Given the description of an element on the screen output the (x, y) to click on. 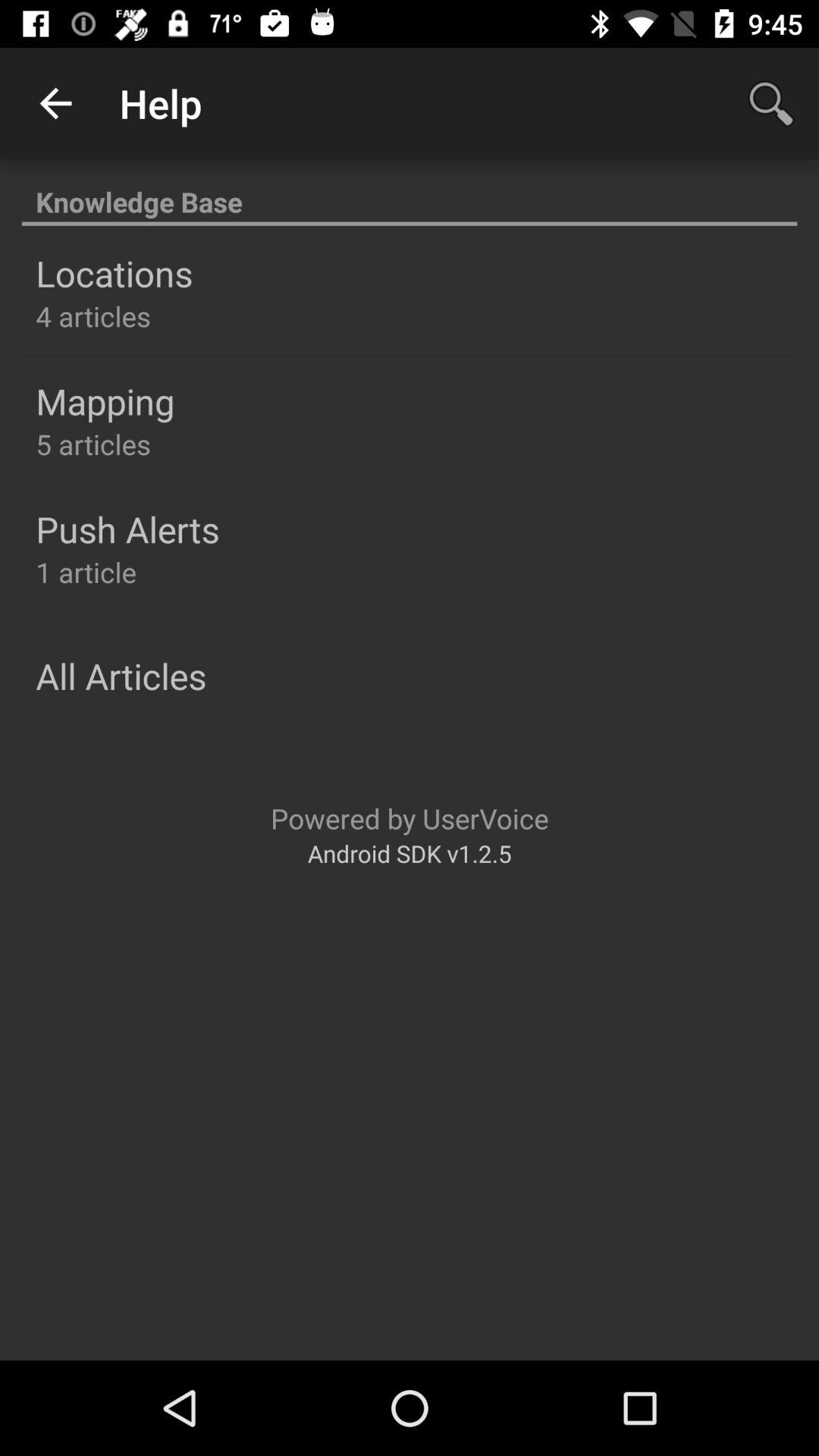
jump to powered by uservoice (409, 818)
